Given the description of an element on the screen output the (x, y) to click on. 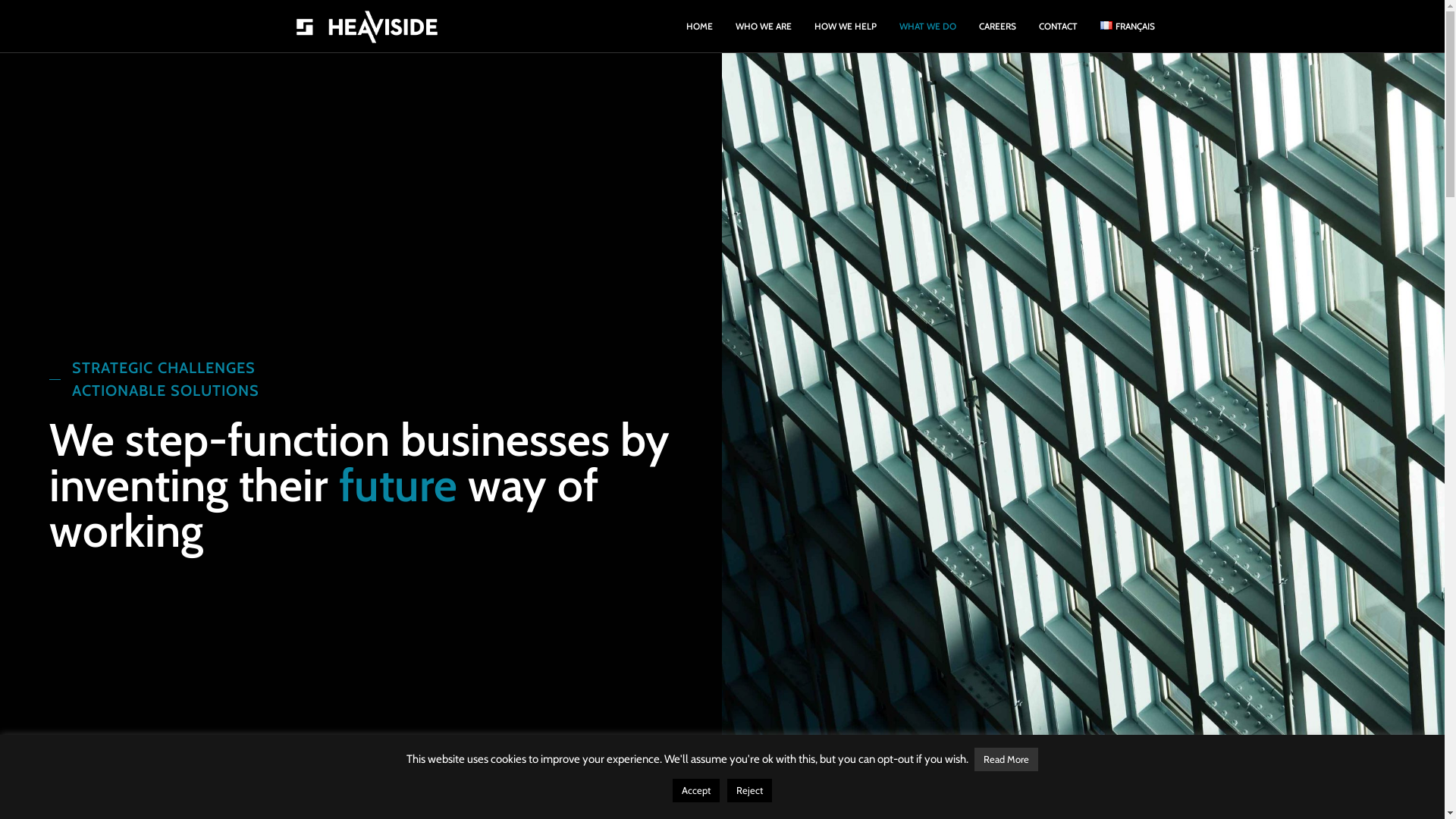
HOME Element type: text (699, 26)
Read More Element type: text (1006, 759)
CAREERS Element type: text (997, 26)
WHAT WE DO Element type: text (927, 26)
WHO WE ARE Element type: text (763, 26)
Accept Element type: text (695, 790)
Reject Element type: text (749, 790)
CONTACT Element type: text (1057, 26)
HOW WE HELP Element type: text (845, 26)
